Given the description of an element on the screen output the (x, y) to click on. 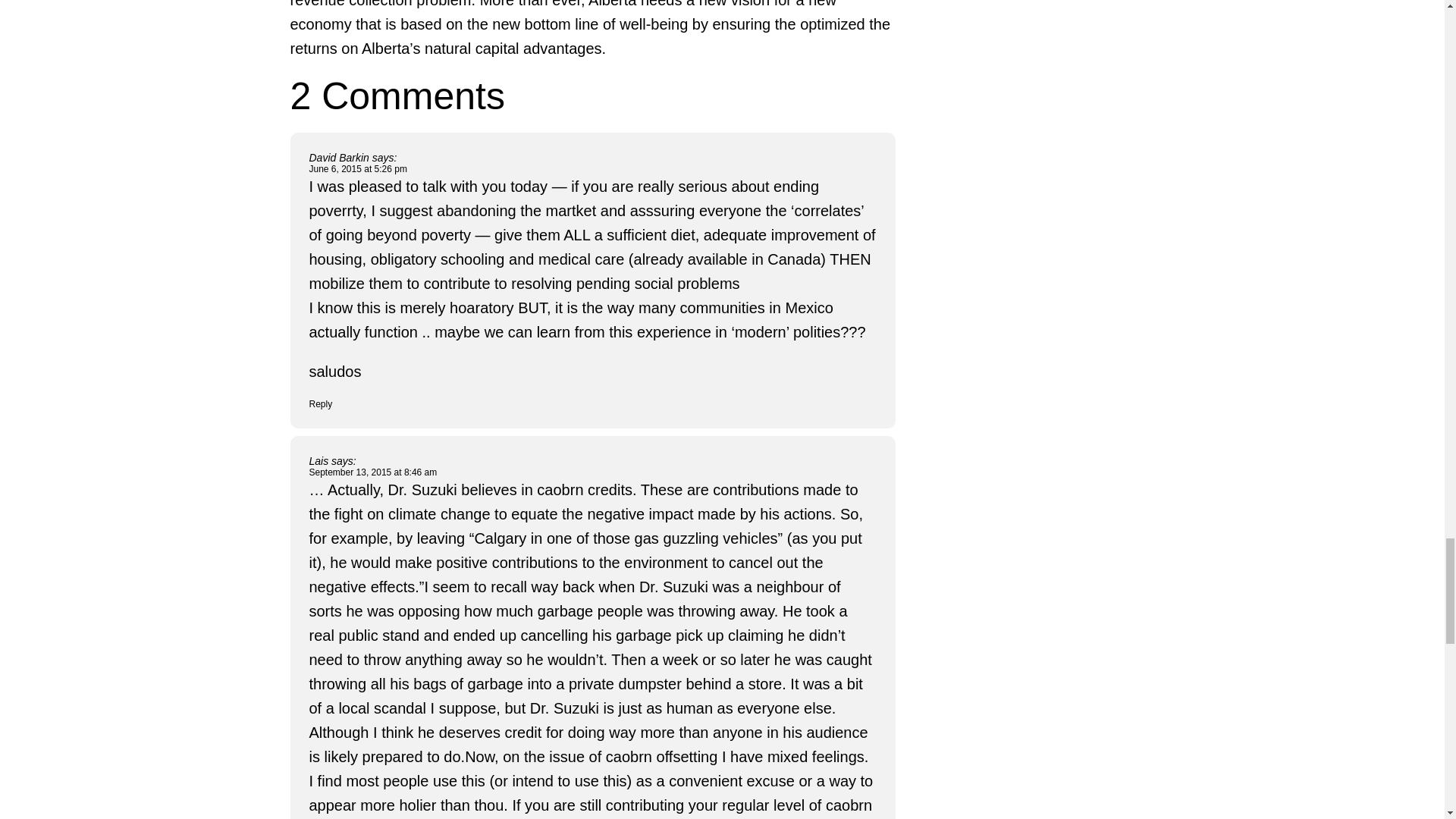
Reply (320, 403)
June 6, 2015 at 5:26 pm (357, 168)
Lais (318, 460)
September 13, 2015 at 8:46 am (373, 471)
